Given the description of an element on the screen output the (x, y) to click on. 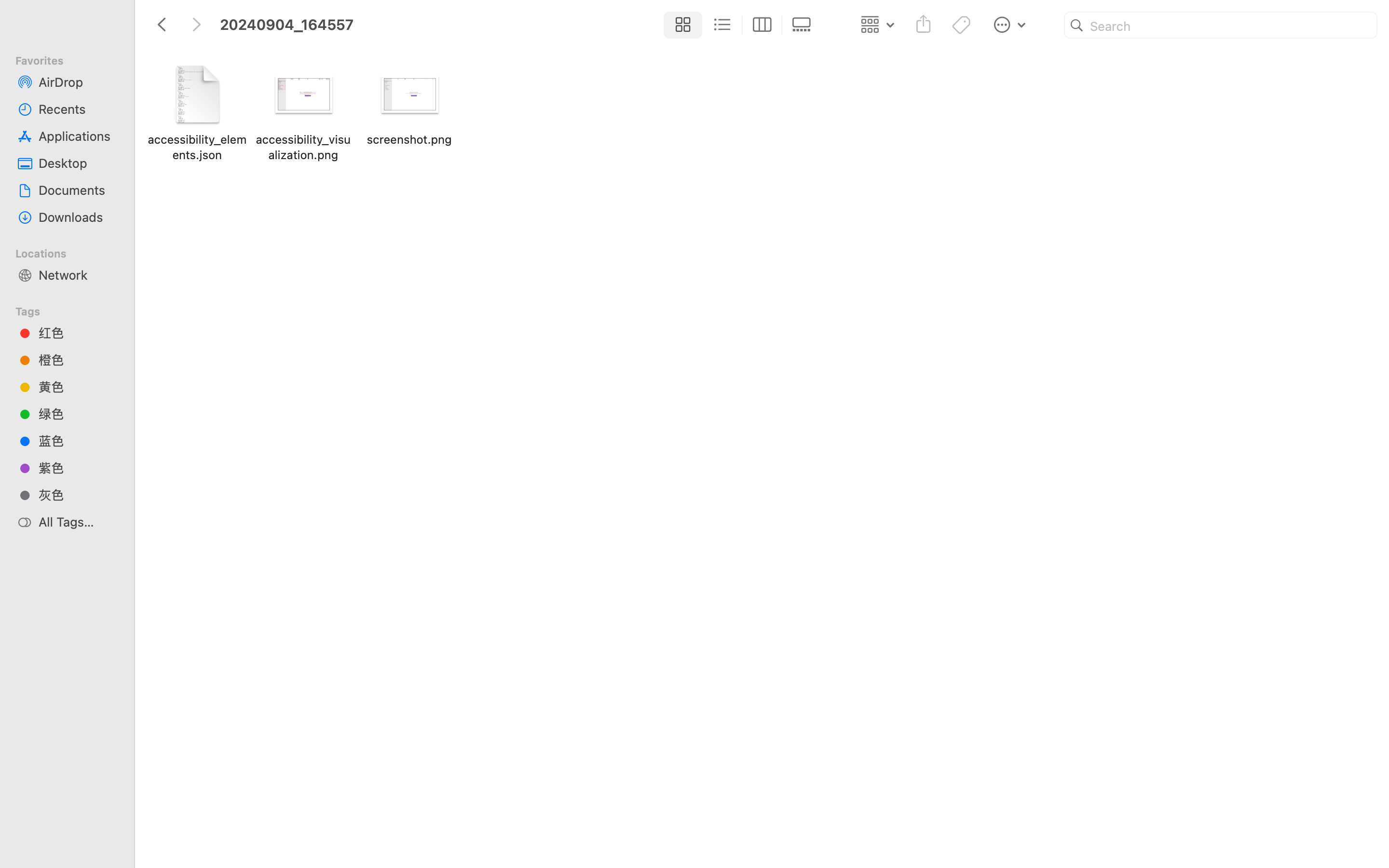
Tags… Element type: AXStaticText (20, 860)
0 Element type: AXRadioButton (804, 24)
Desktop Element type: AXStaticText (77, 162)
Documents Element type: AXStaticText (77, 189)
绿色 Element type: AXStaticText (77, 413)
